Given the description of an element on the screen output the (x, y) to click on. 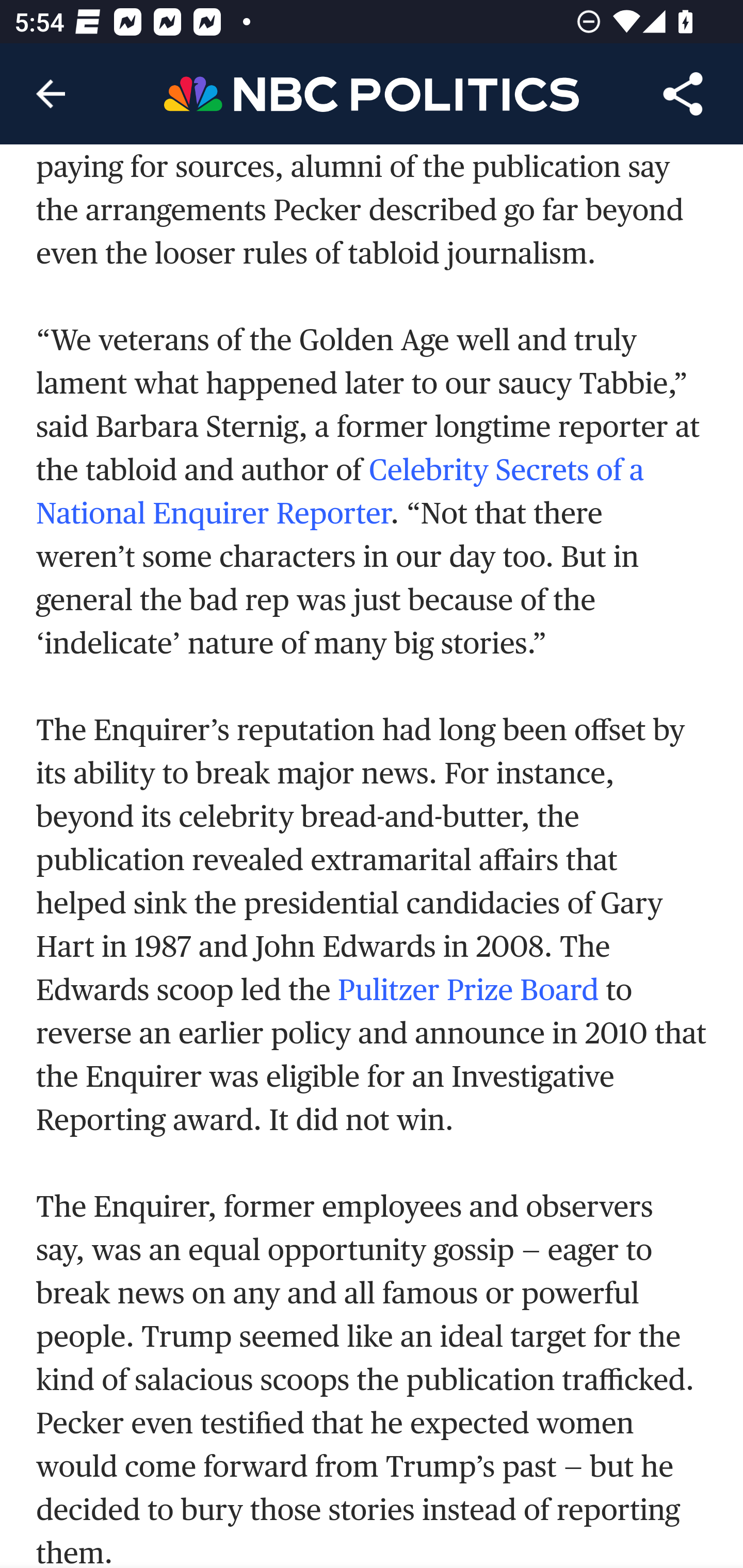
Navigate up (50, 93)
Share Article, button (683, 94)
Header, NBC Politics (371, 93)
Celebrity Secrets of a National Enquirer Reporter (340, 490)
Pulitzer Prize Board (467, 988)
